Given the description of an element on the screen output the (x, y) to click on. 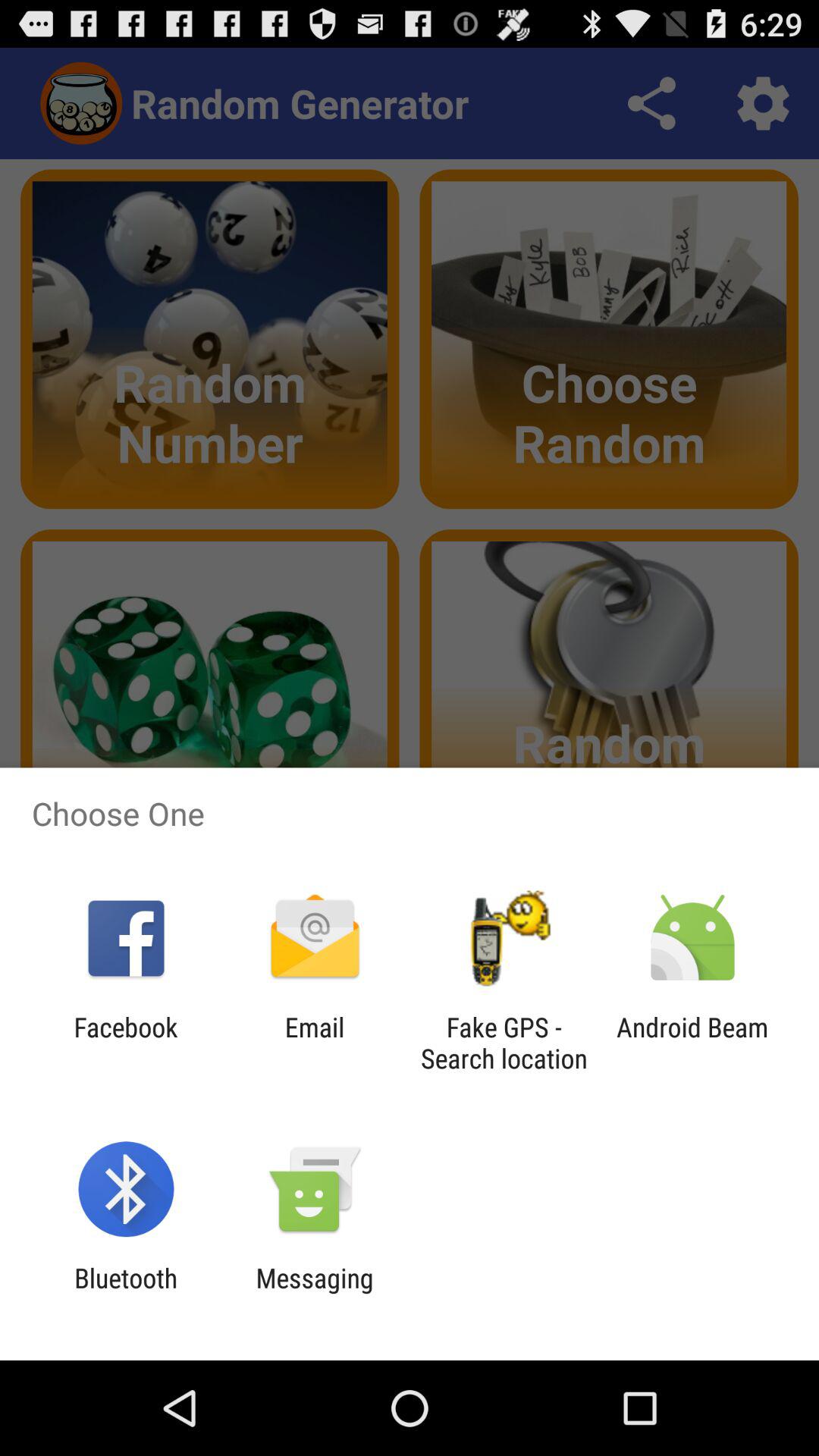
choose the icon next to facebook (314, 1042)
